Given the description of an element on the screen output the (x, y) to click on. 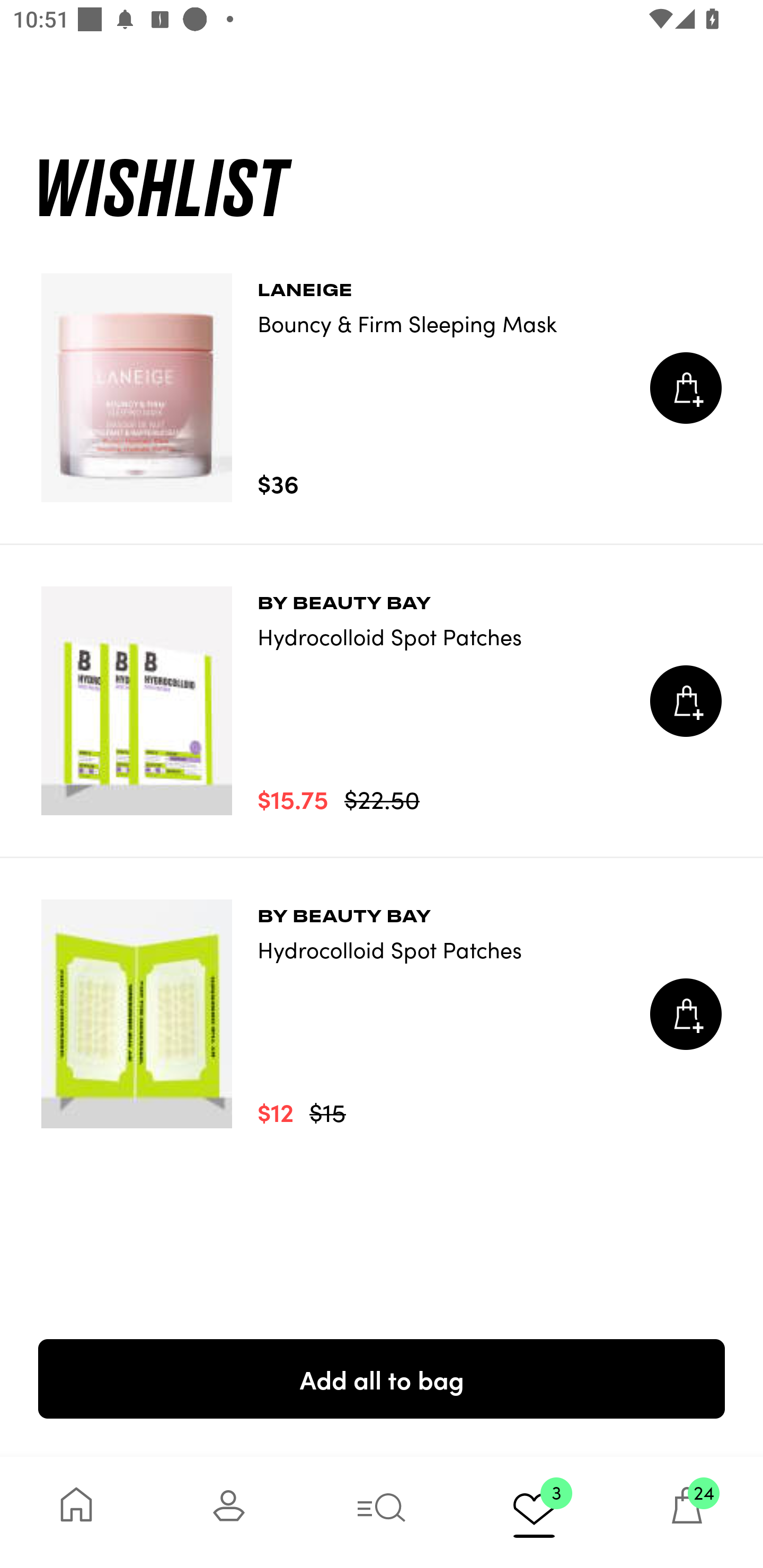
LANEIGE Bouncy & Firm Sleeping Mask $36 (381, 388)
BY BEAUTY BAY Hydrocolloid Spot Patches $12 $15 (381, 1013)
Add all to bag (381, 1379)
3 (533, 1512)
24 (686, 1512)
